Given the description of an element on the screen output the (x, y) to click on. 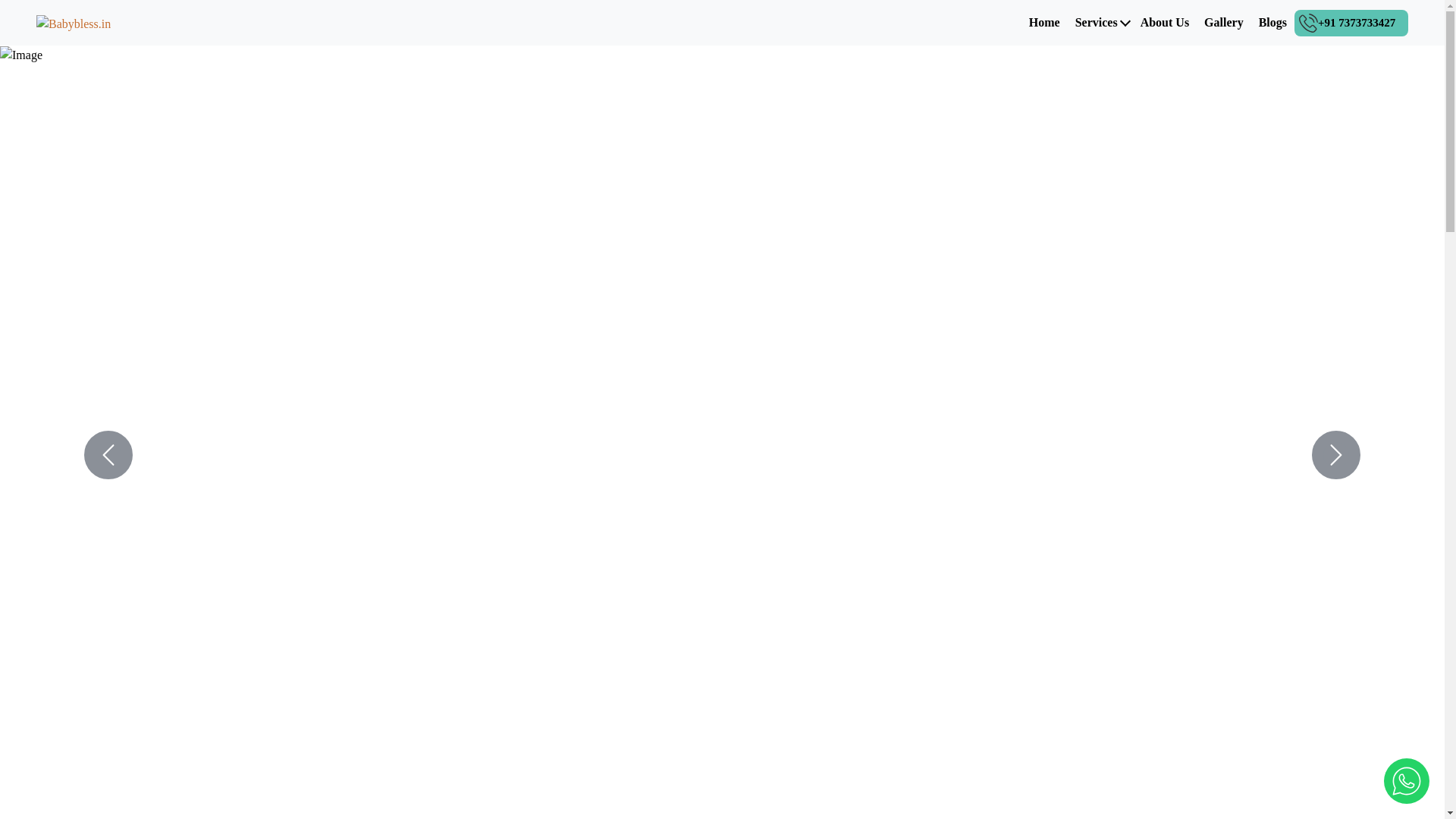
Gallery (1223, 21)
Blogs (1273, 21)
Gallery (1223, 21)
Services (1096, 21)
About Us (1164, 21)
Blogs (1273, 21)
Babybless.in (73, 22)
Babybless.in (73, 21)
Home (1044, 21)
About Us (1164, 21)
